Given the description of an element on the screen output the (x, y) to click on. 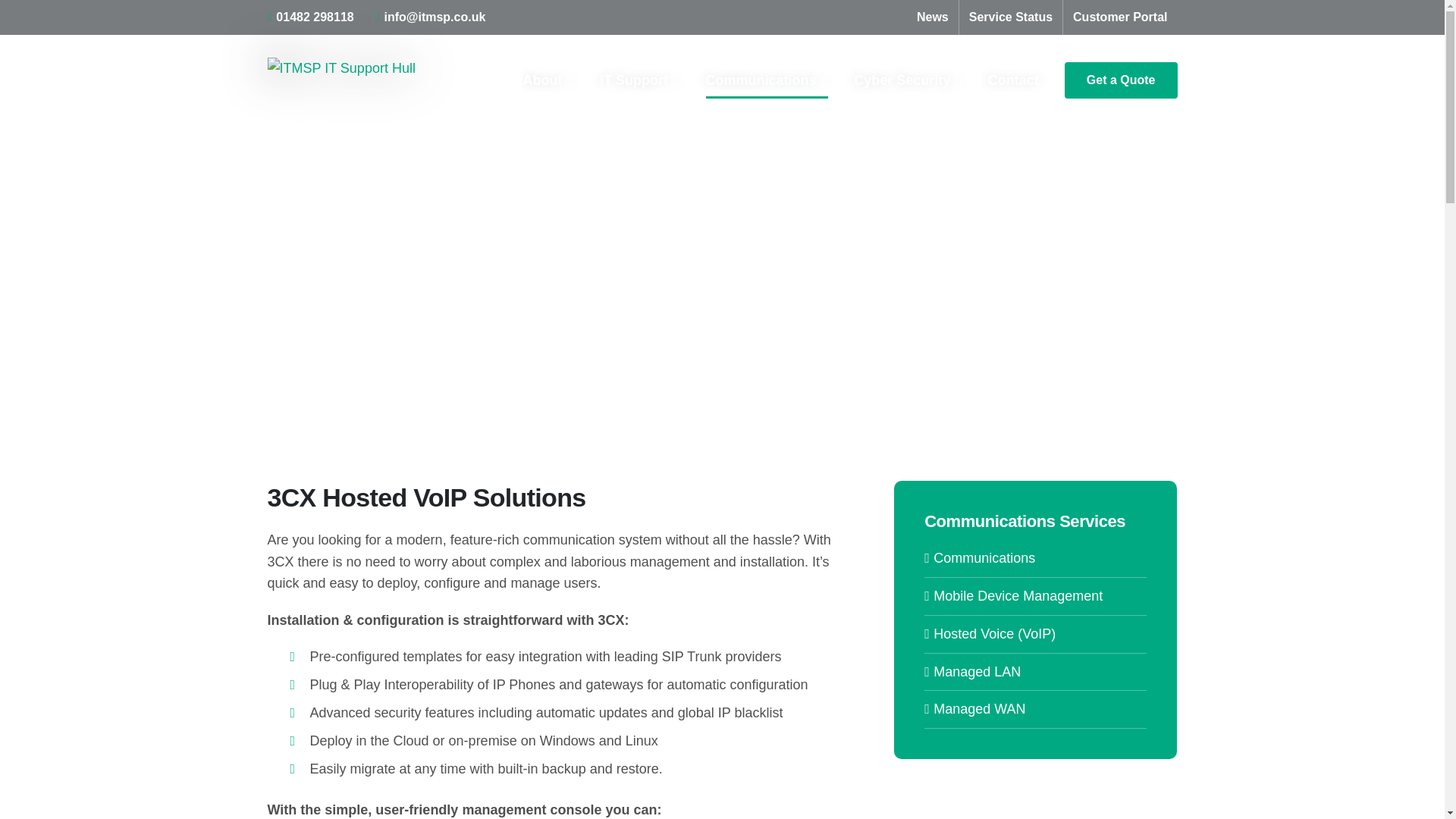
Get a Quote (1120, 80)
Service Status (1010, 17)
News (932, 17)
Customer Portal (1119, 17)
Communications (767, 80)
Cyber Security (907, 80)
01482 298118 (309, 16)
